Given the description of an element on the screen output the (x, y) to click on. 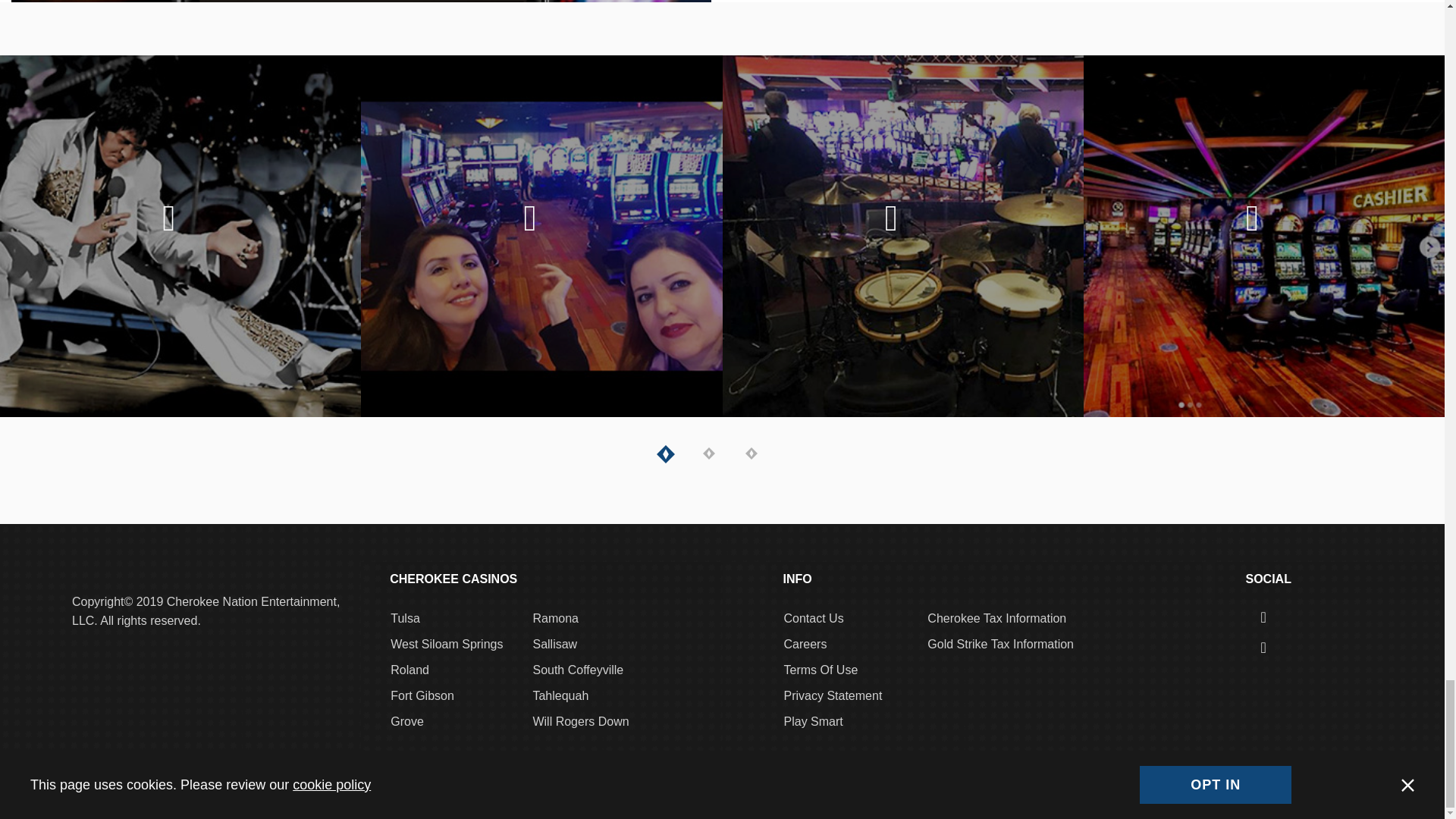
West Siloam Springs (446, 644)
Sallisaw (554, 644)
Tulsa (405, 617)
Roland (409, 669)
Grove (406, 721)
Ramona (555, 617)
South Coffeyville (577, 669)
Fort Gibson (422, 695)
